Given the description of an element on the screen output the (x, y) to click on. 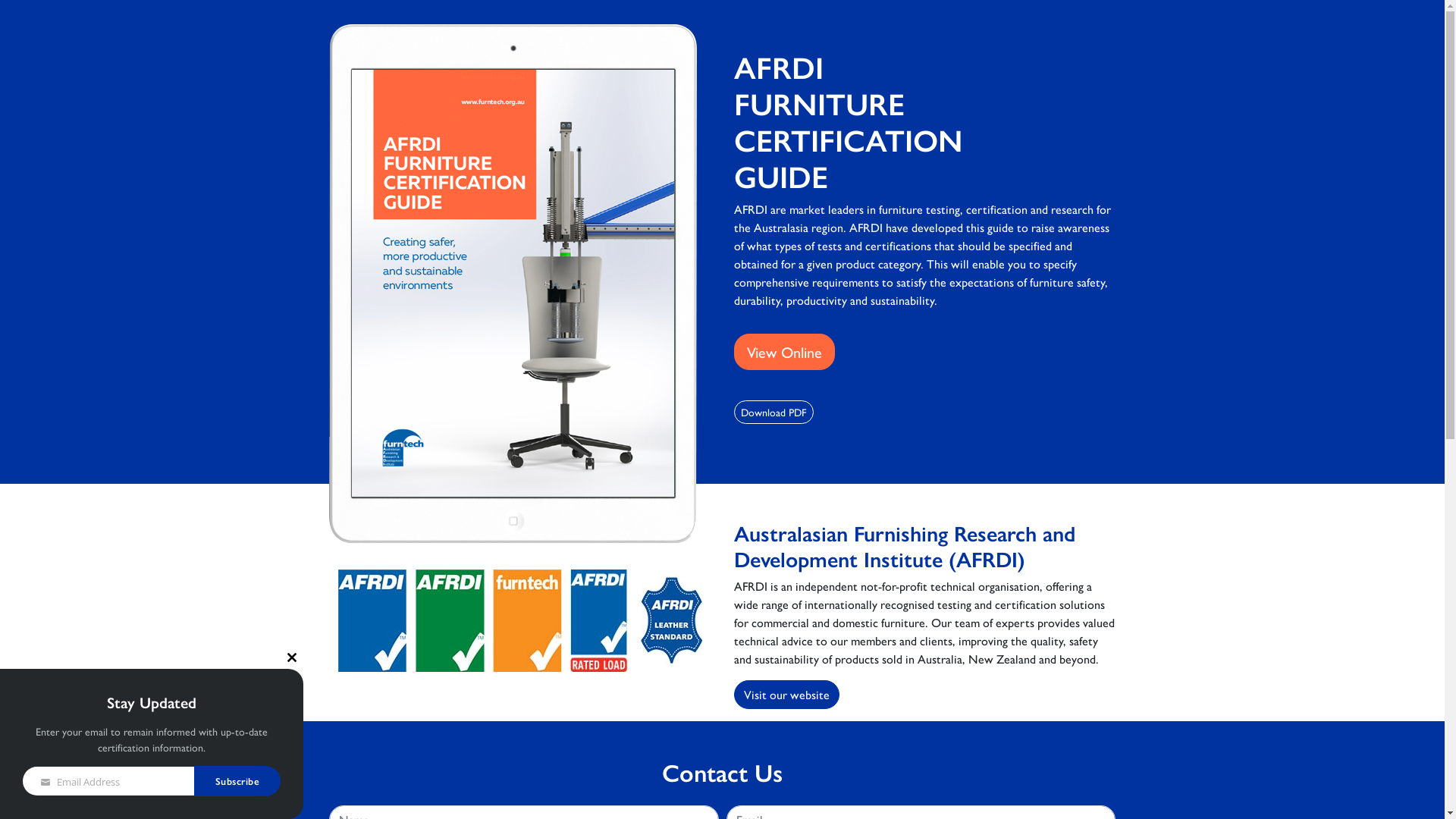
Close this module Element type: text (291, 657)
Visit our website Element type: text (786, 694)
Download PDF Element type: text (773, 411)
Subscribe Element type: text (237, 780)
